Given the description of an element on the screen output the (x, y) to click on. 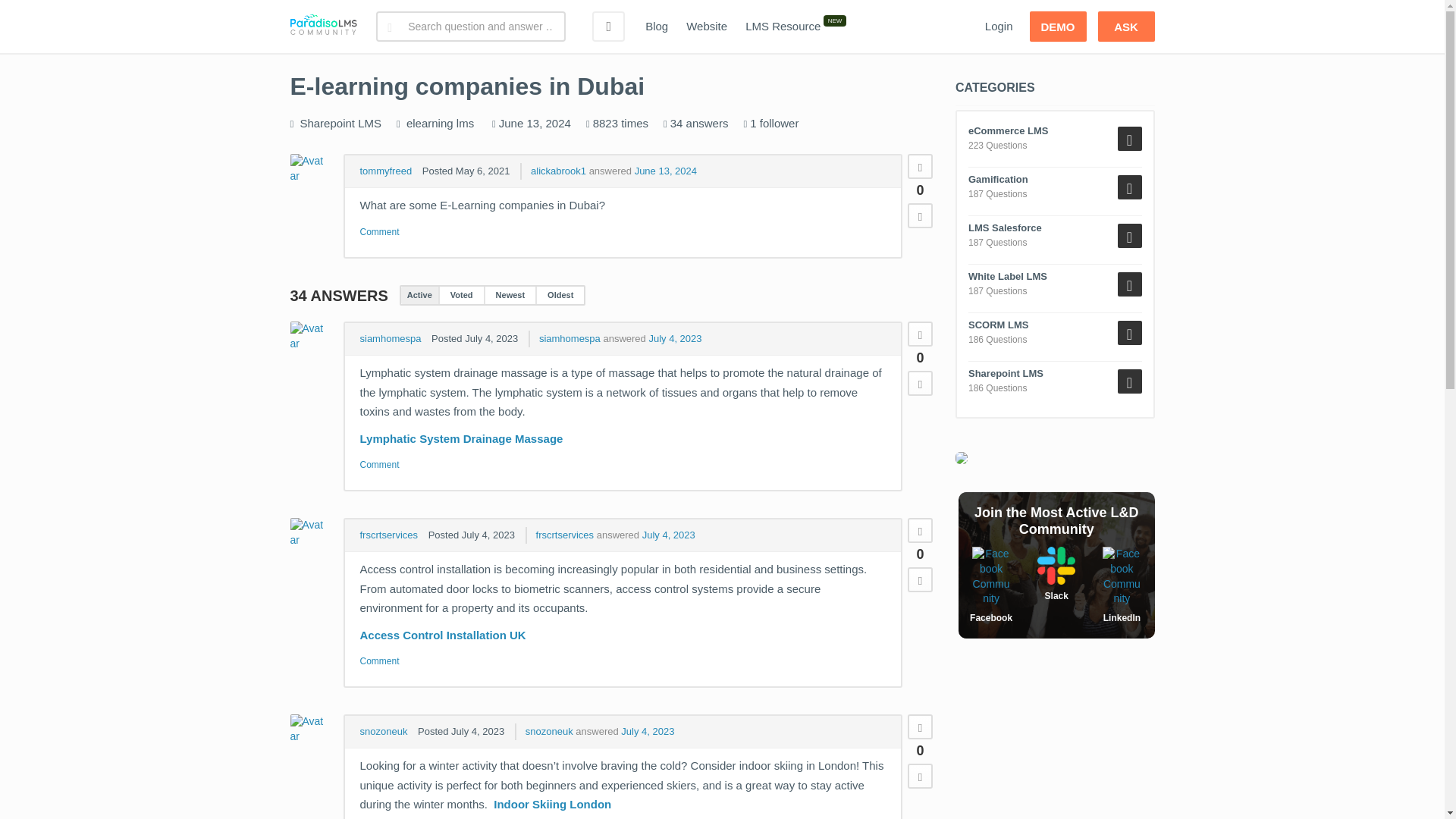
LMS Resource (782, 26)
Website (706, 26)
Website (706, 26)
tommyfreed (385, 170)
ASK (1125, 26)
Active (419, 294)
Comments (378, 465)
Down vote this post (920, 383)
Login (998, 26)
LMS Resource (782, 26)
